Given the description of an element on the screen output the (x, y) to click on. 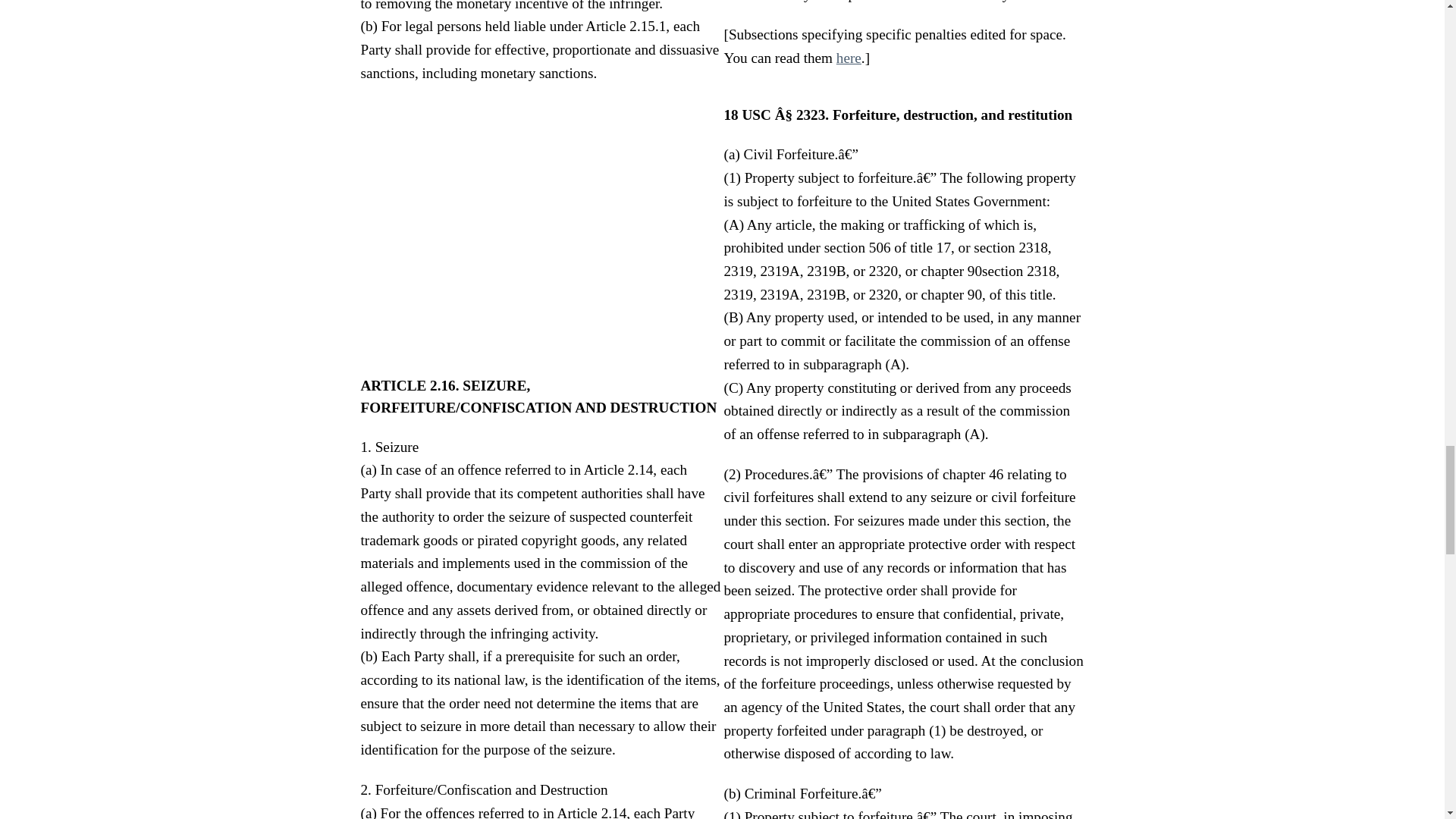
here (848, 57)
